Given the description of an element on the screen output the (x, y) to click on. 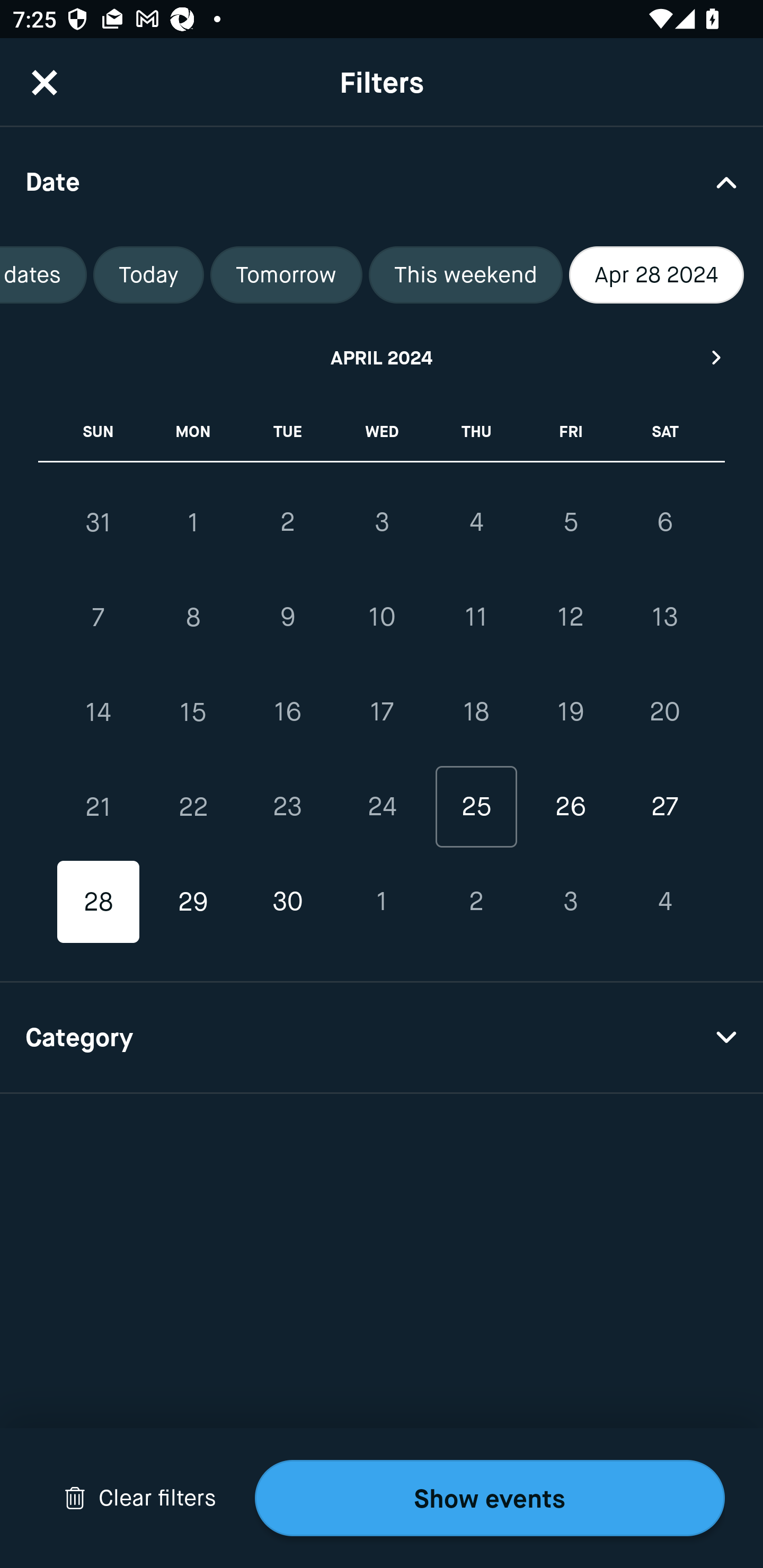
CloseButton (44, 82)
Date Drop Down Arrow (381, 181)
All dates (43, 274)
Today (148, 274)
Tomorrow (286, 274)
This weekend (465, 274)
Apr 28 2024 (656, 274)
Next (717, 357)
31 (98, 522)
1 (192, 522)
2 (287, 522)
3 (381, 522)
4 (475, 522)
5 (570, 522)
6 (664, 522)
7 (98, 617)
8 (192, 617)
9 (287, 617)
10 (381, 617)
11 (475, 617)
12 (570, 617)
13 (664, 617)
14 (98, 711)
15 (192, 711)
16 (287, 711)
17 (381, 711)
18 (475, 711)
19 (570, 711)
20 (664, 711)
21 (98, 806)
22 (192, 806)
23 (287, 806)
24 (381, 806)
25 (475, 806)
26 (570, 806)
27 (664, 806)
28 (98, 901)
29 (192, 901)
30 (287, 901)
1 (381, 901)
2 (475, 901)
3 (570, 901)
4 (664, 901)
Category Drop Down Arrow (381, 1038)
Drop Down Arrow Clear filters (139, 1497)
Show events (489, 1497)
